Given the description of an element on the screen output the (x, y) to click on. 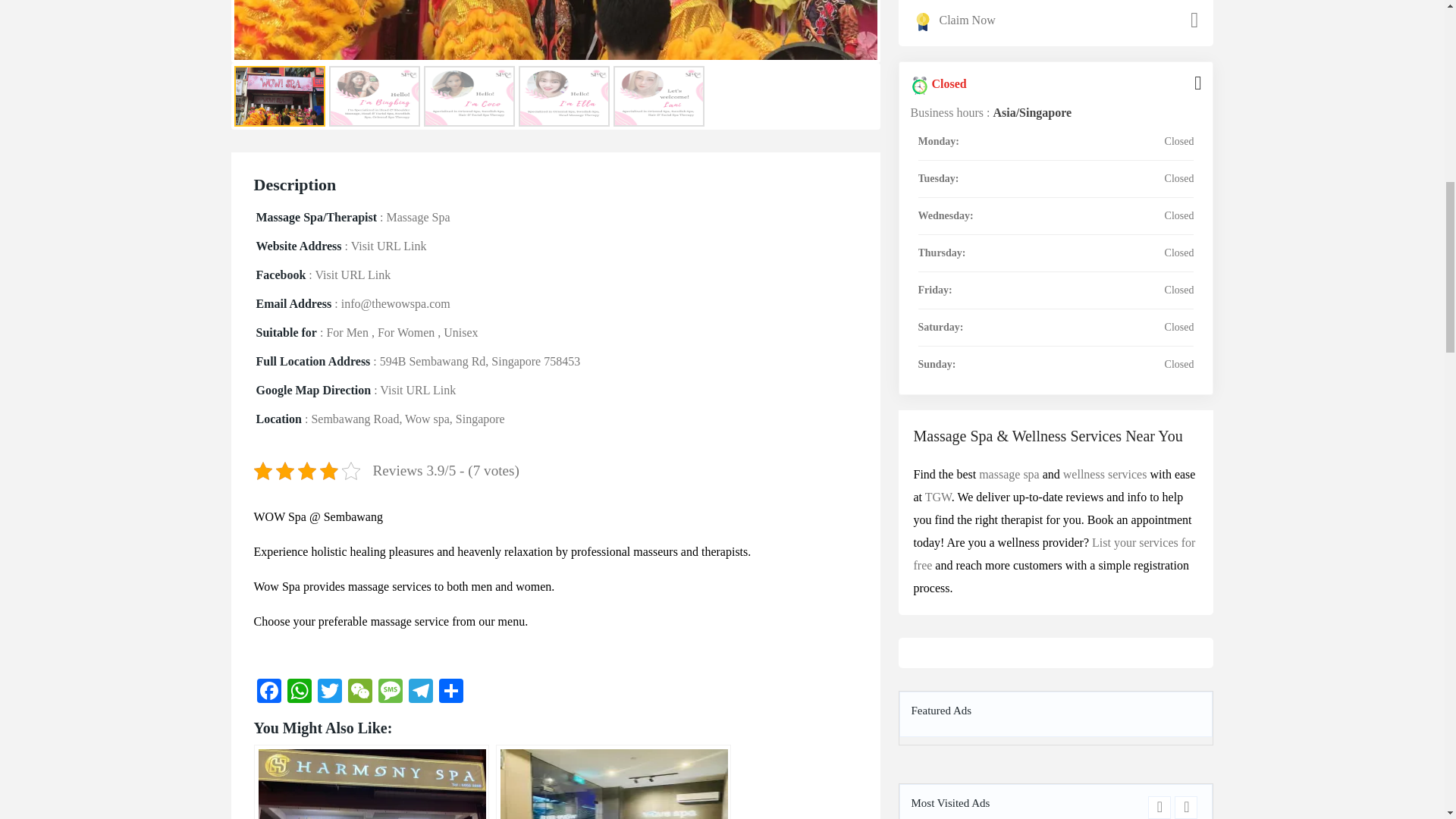
Facebook (268, 692)
Harmony Spa Sembawang (370, 781)
Telegram (419, 692)
Message (389, 692)
Twitter (328, 692)
Visit URL Link (352, 274)
WeChat (358, 692)
Visit URL Link (388, 245)
WhatsApp (298, 692)
